Given the description of an element on the screen output the (x, y) to click on. 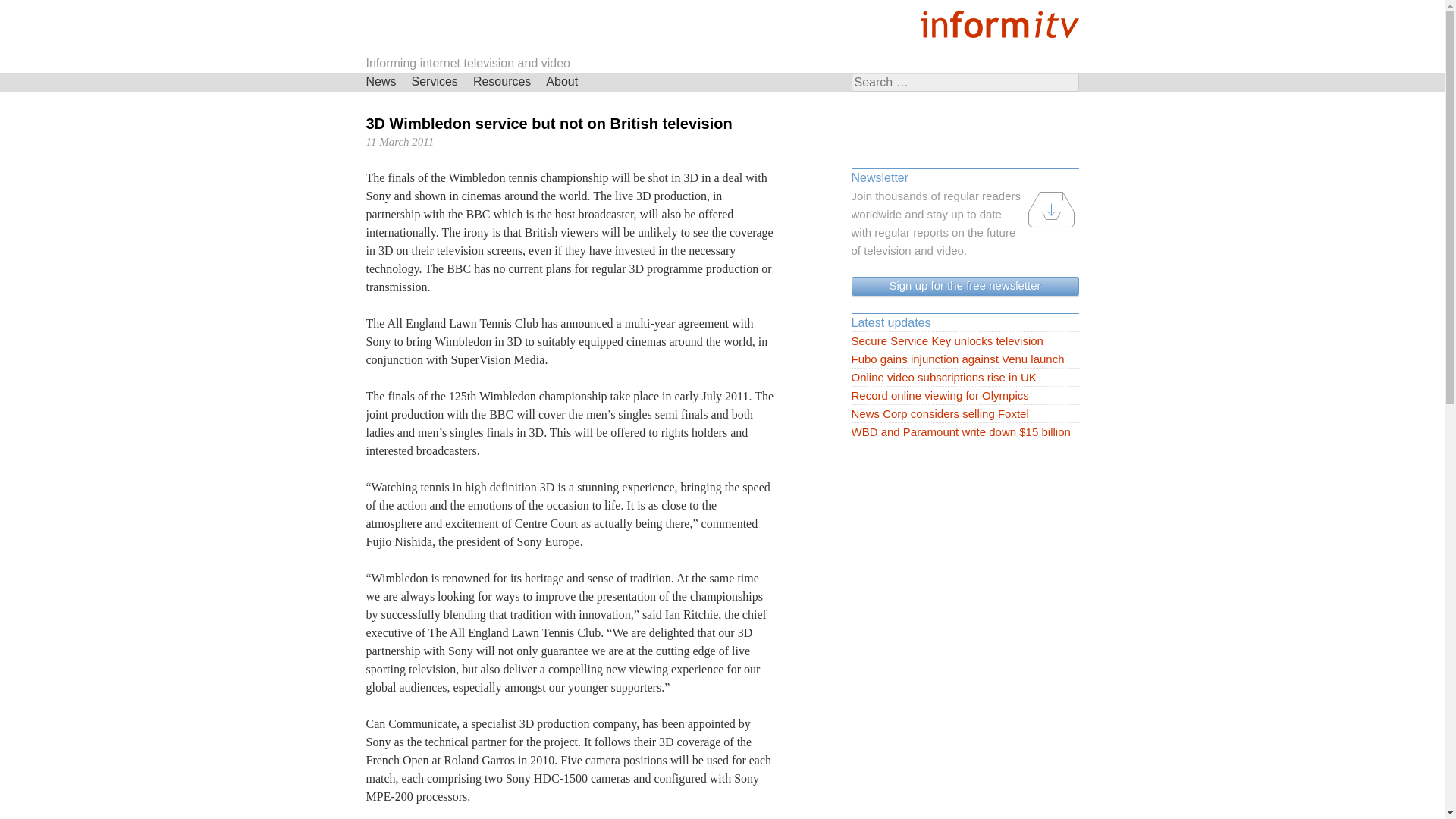
Services (434, 81)
Online video subscriptions rise in UK (964, 377)
Search (26, 9)
Fubo gains injunction against Venu launch (964, 359)
Resources (501, 81)
News (380, 81)
About (561, 81)
Record online viewing for Olympics (964, 395)
News Corp considers selling Foxtel (964, 413)
